Given the description of an element on the screen output the (x, y) to click on. 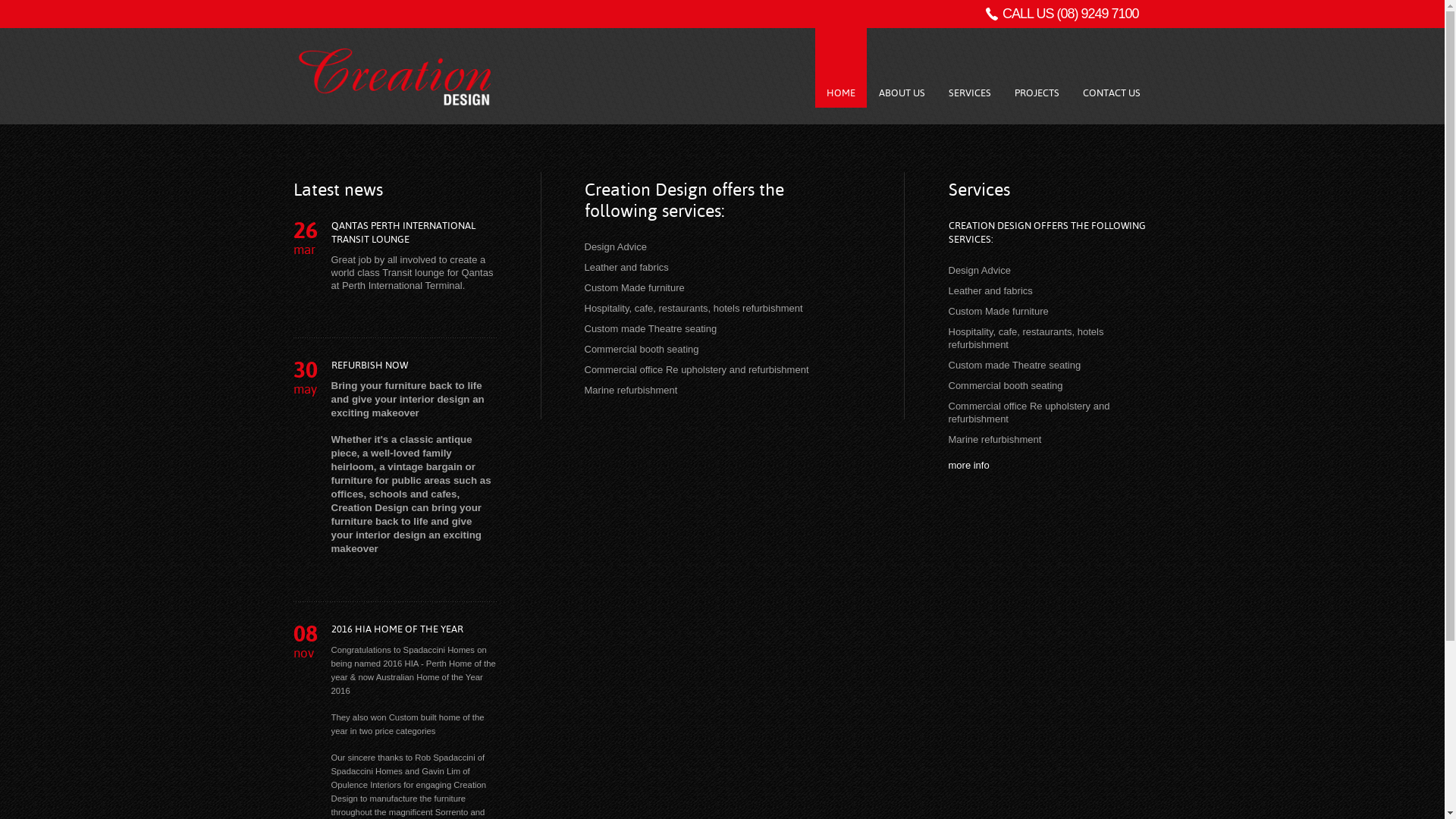
QANTAS PERTH INTERNATIONAL TRANSIT LOUNGE Element type: text (402, 231)
more info Element type: text (967, 464)
REFURBISH NOW Element type: text (368, 364)
CONTACT US Element type: text (1110, 67)
ABOUT US Element type: text (901, 67)
2016 HIA HOME OF THE YEAR Element type: text (396, 628)
HOME Element type: text (840, 67)
CREATION DESIGN OFFERS THE FOLLOWING SERVICES: Element type: text (1046, 231)
SERVICES Element type: text (969, 67)
PROJECTS Element type: text (1036, 67)
